Given the description of an element on the screen output the (x, y) to click on. 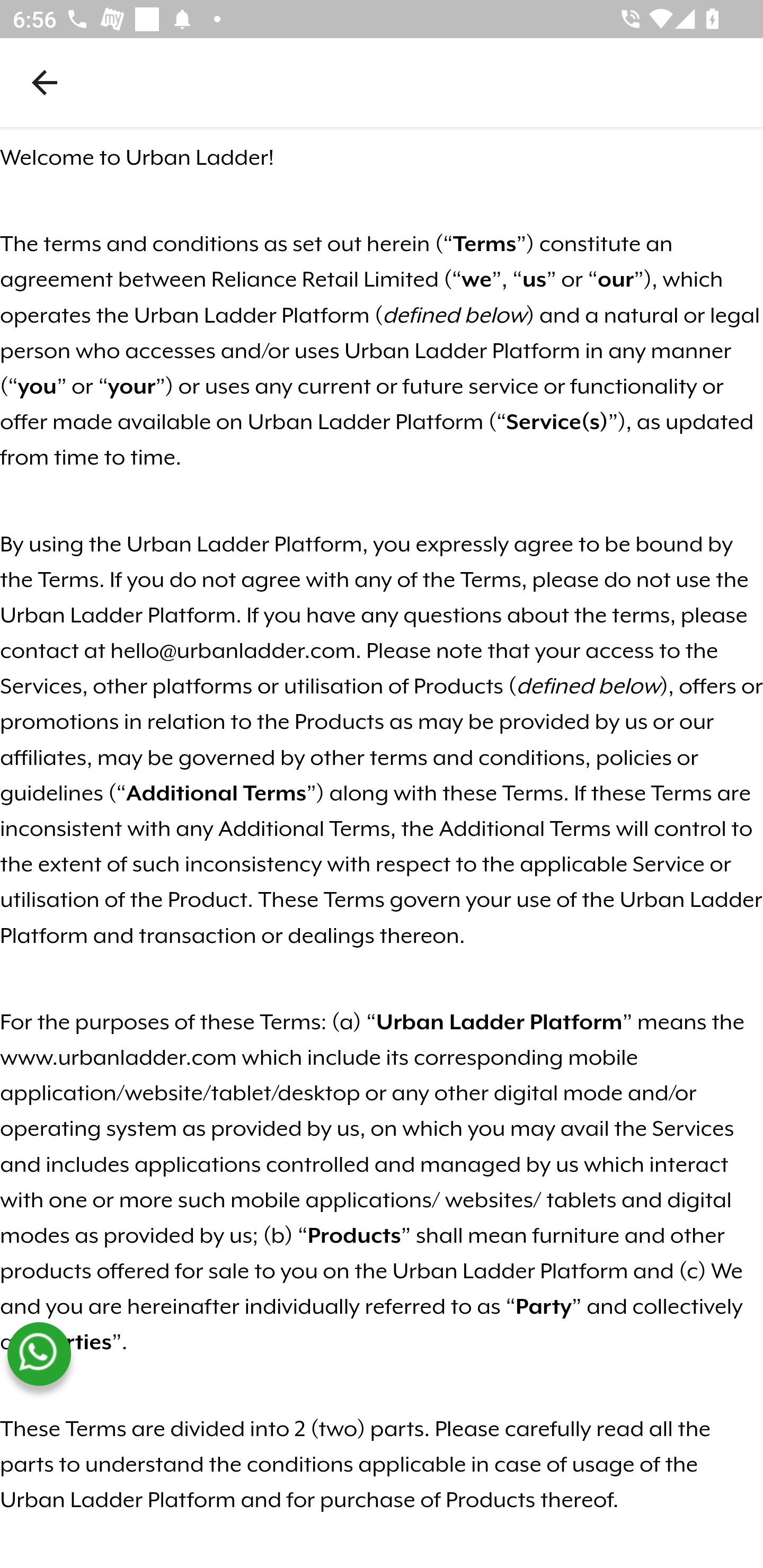
Navigate up (44, 82)
whatsapp (38, 1353)
